Given the description of an element on the screen output the (x, y) to click on. 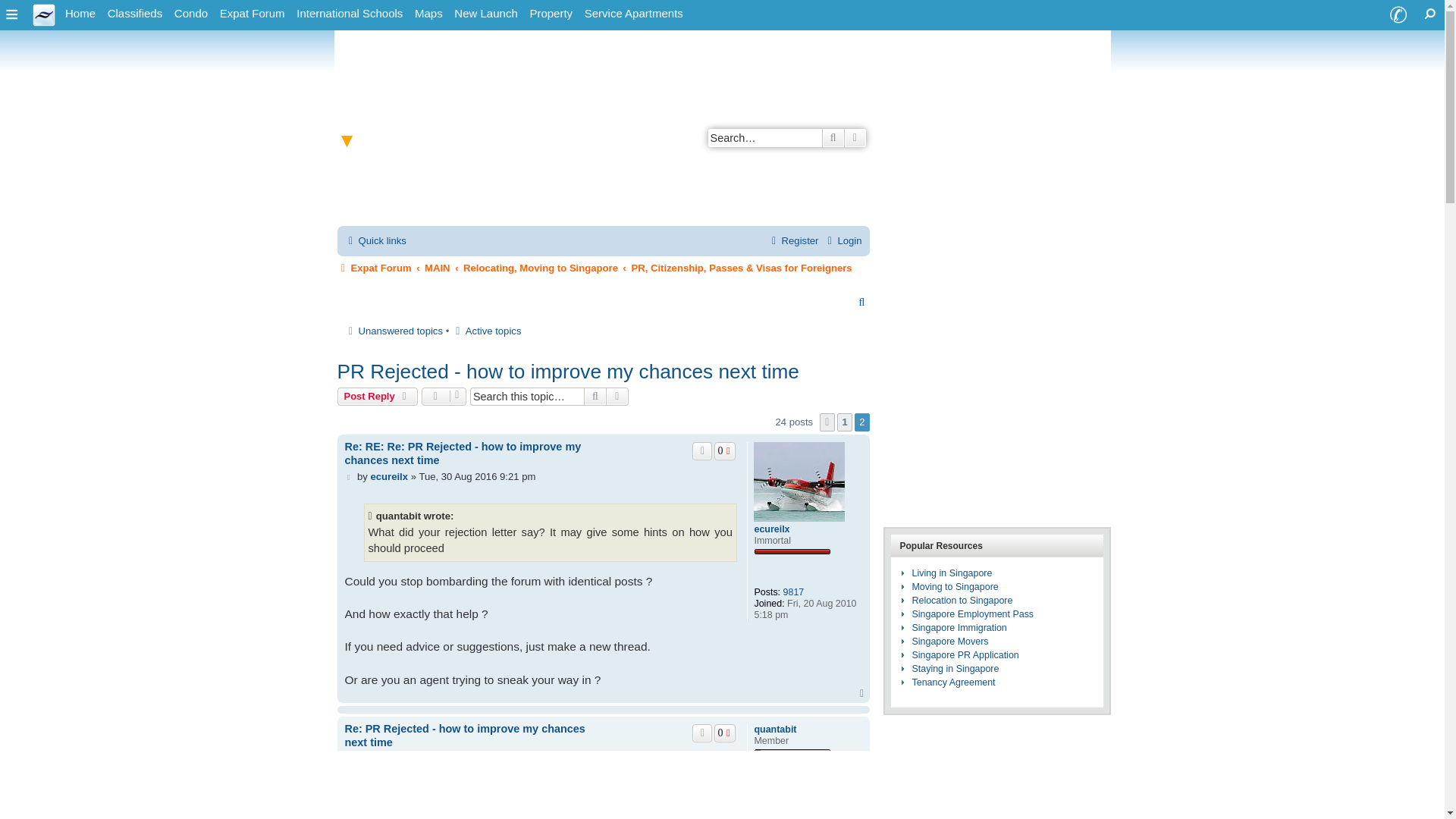
New Property Launch (485, 13)
Singapore Expats (44, 13)
Maps (428, 13)
Property (550, 13)
Singapore Expats Forum (252, 13)
Singapore Expats (80, 13)
International Schools (349, 13)
Expat Forum (252, 13)
Singapore Service Apartments (633, 13)
Contact Us (1397, 15)
Home (80, 13)
Singapore Condo Directory (191, 13)
Service Apartments (633, 13)
New Launch (485, 13)
Singapore International Schools (349, 13)
